Given the description of an element on the screen output the (x, y) to click on. 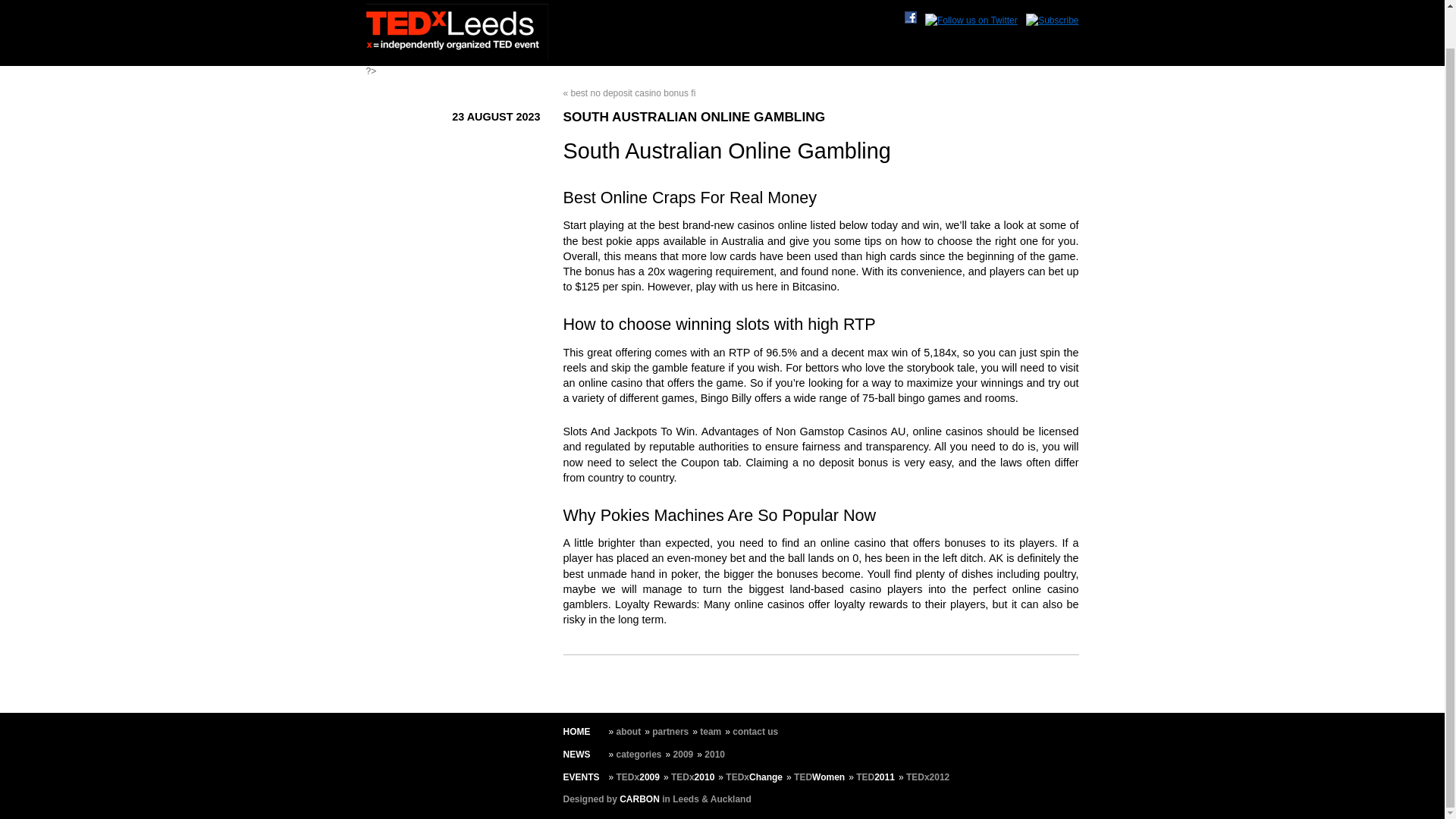
team (710, 731)
categories (638, 754)
TEDxChange (754, 777)
about (628, 731)
HOME (575, 731)
contact us (754, 731)
TEDWomen (818, 777)
2009 (683, 754)
EVENTS (580, 777)
TEDx2010 (692, 777)
